Given the description of an element on the screen output the (x, y) to click on. 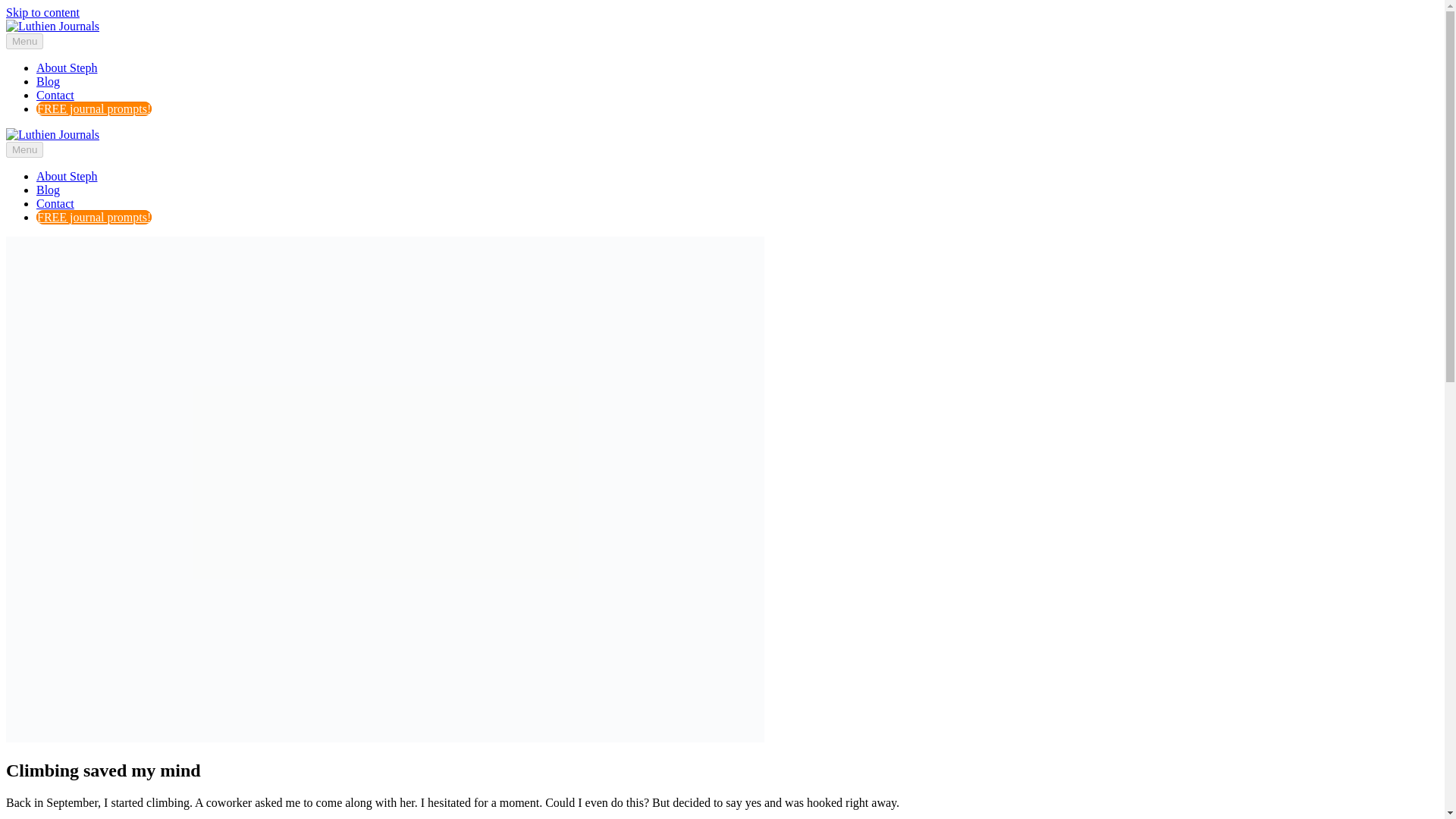
Contact (55, 203)
About Steph (66, 175)
FREE journal prompts! (93, 216)
Contact (55, 94)
Blog (47, 189)
Menu (24, 41)
About Steph (66, 67)
Menu (24, 149)
Blog (47, 81)
FREE journal prompts! (93, 108)
Skip to content (42, 11)
